Given the description of an element on the screen output the (x, y) to click on. 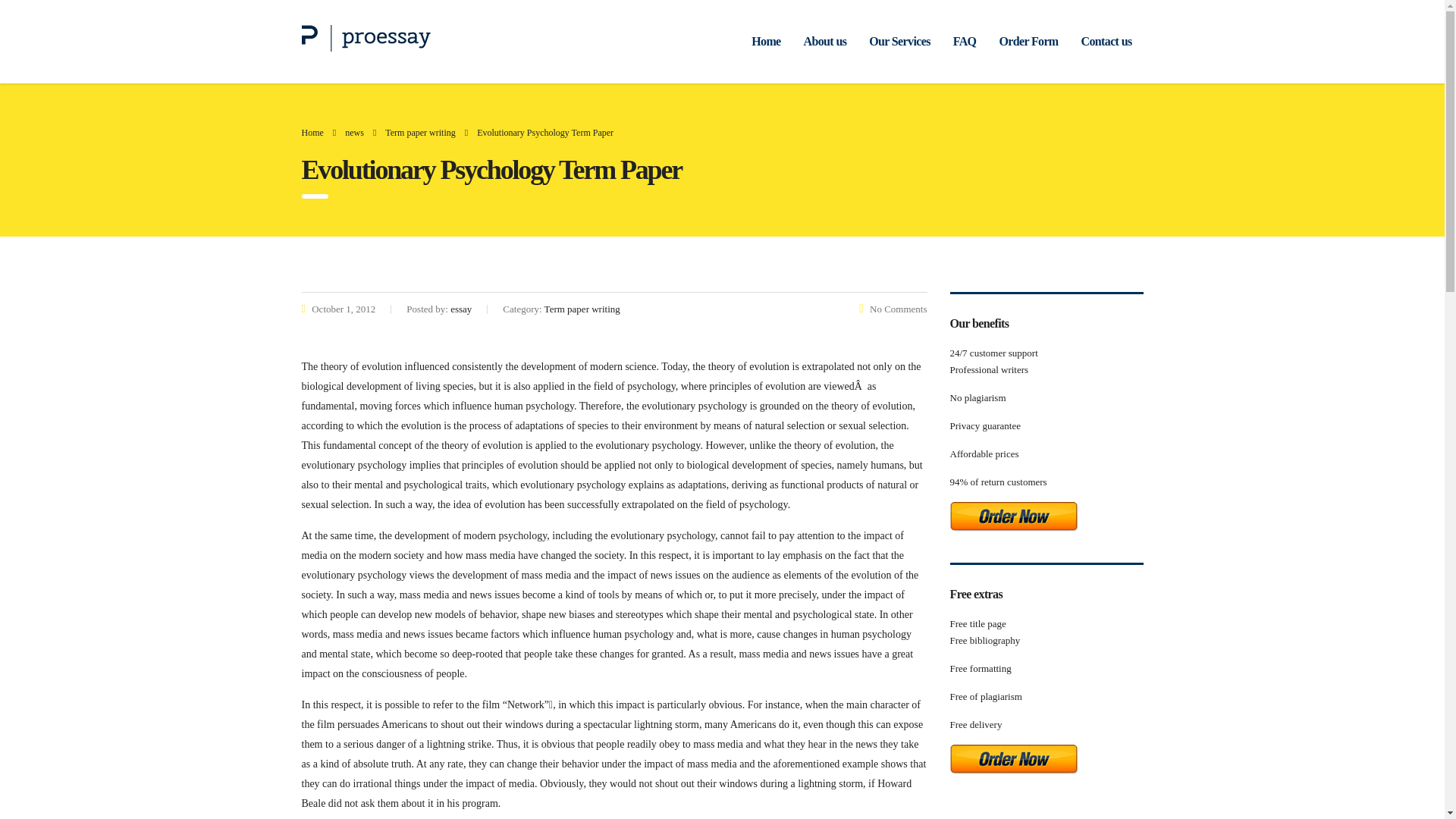
Go to Proessay.com. (312, 132)
Go to news. (354, 132)
About us (825, 41)
Order Form (1027, 41)
Home (765, 41)
Our Services (898, 41)
FAQ (965, 41)
Go to the Term paper writing category archives. (419, 132)
